Given the description of an element on the screen output the (x, y) to click on. 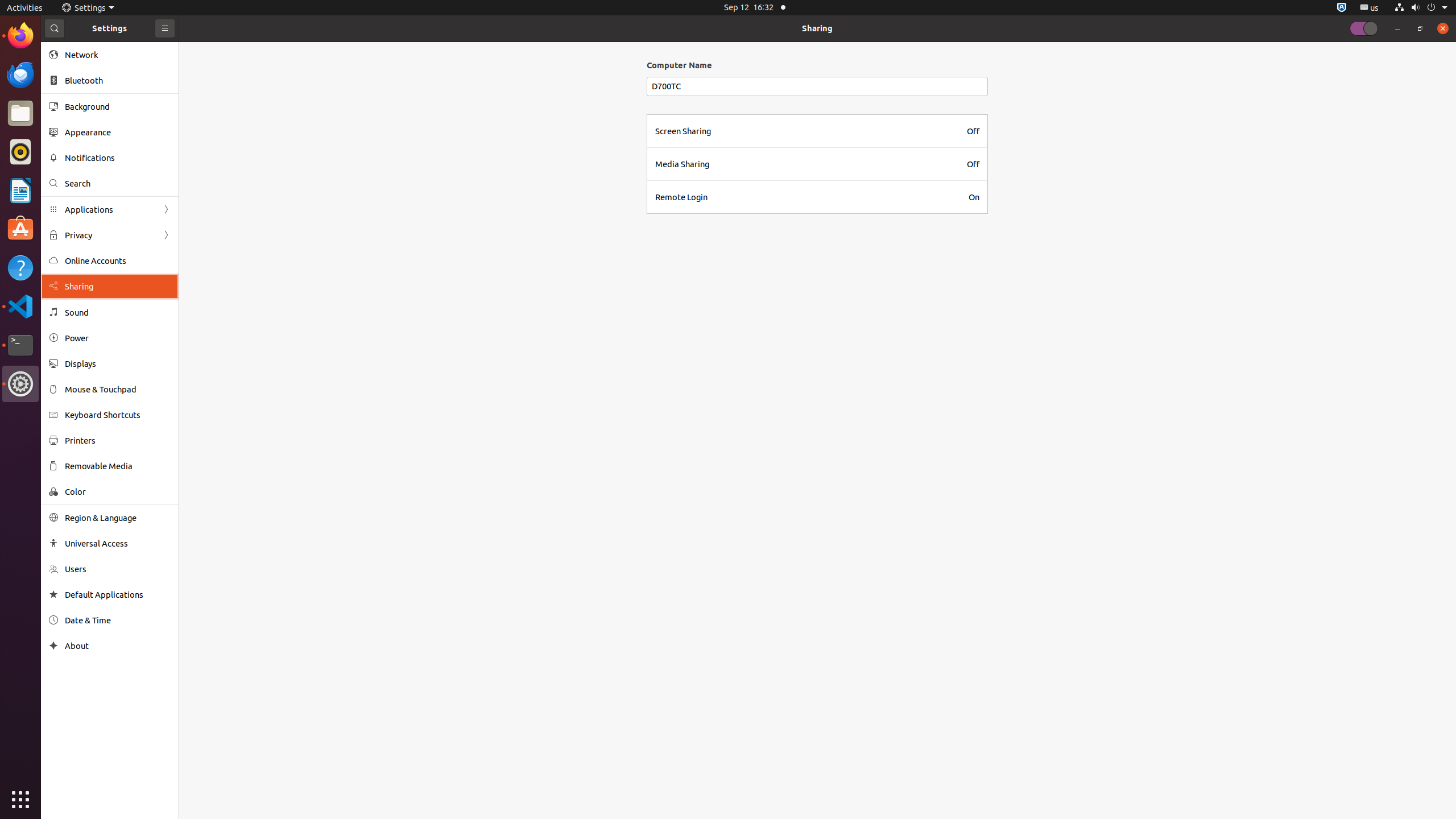
Minimize Element type: push-button (1397, 27)
Appearance Element type: label (117, 132)
Default Applications Element type: label (117, 594)
